Given the description of an element on the screen output the (x, y) to click on. 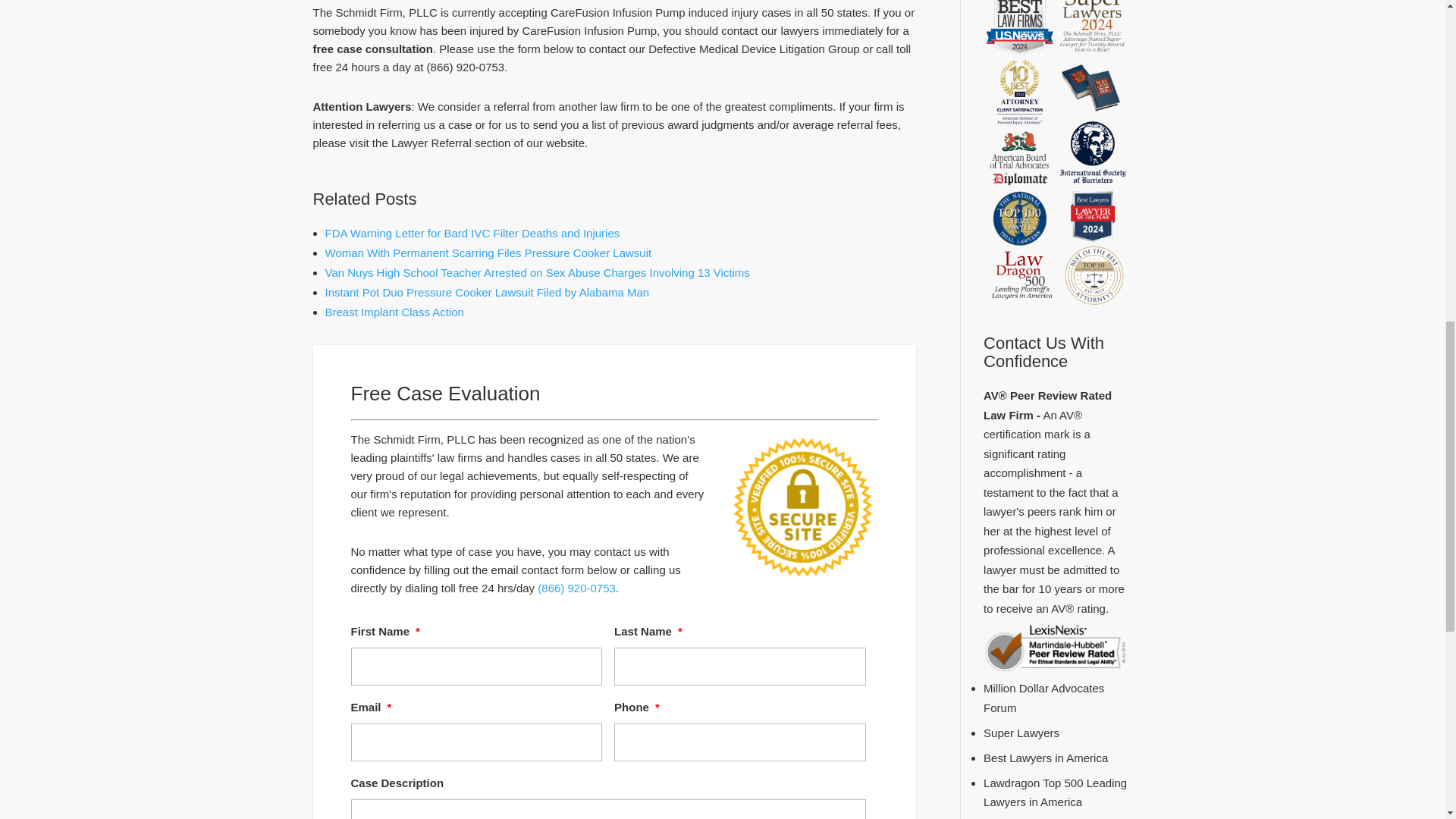
Instant Pot Duo Pressure Cooker Lawsuit Filed by Alabama Man (486, 291)
Woman With Permanent Scarring Files Pressure Cooker Lawsuit (487, 252)
FDA Warning Letter for Bard IVC Filter Deaths and Injuries (472, 232)
Breast Implant Class Action (393, 311)
